Given the description of an element on the screen output the (x, y) to click on. 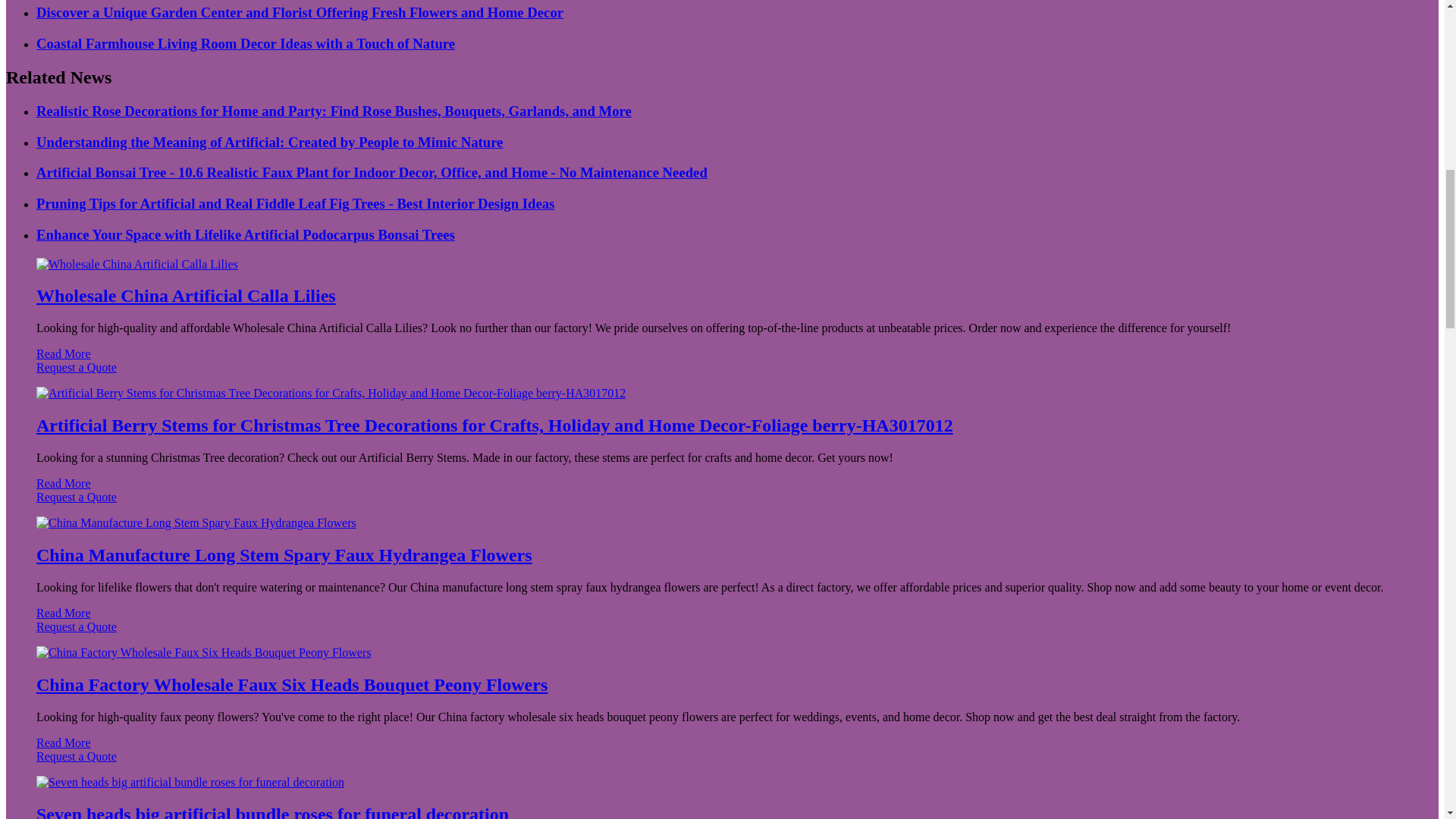
Read More (63, 482)
Request a Quote (721, 503)
Request a Quote (721, 374)
Read More (63, 353)
Wholesale China Artificial Calla Lilies (186, 295)
